Given the description of an element on the screen output the (x, y) to click on. 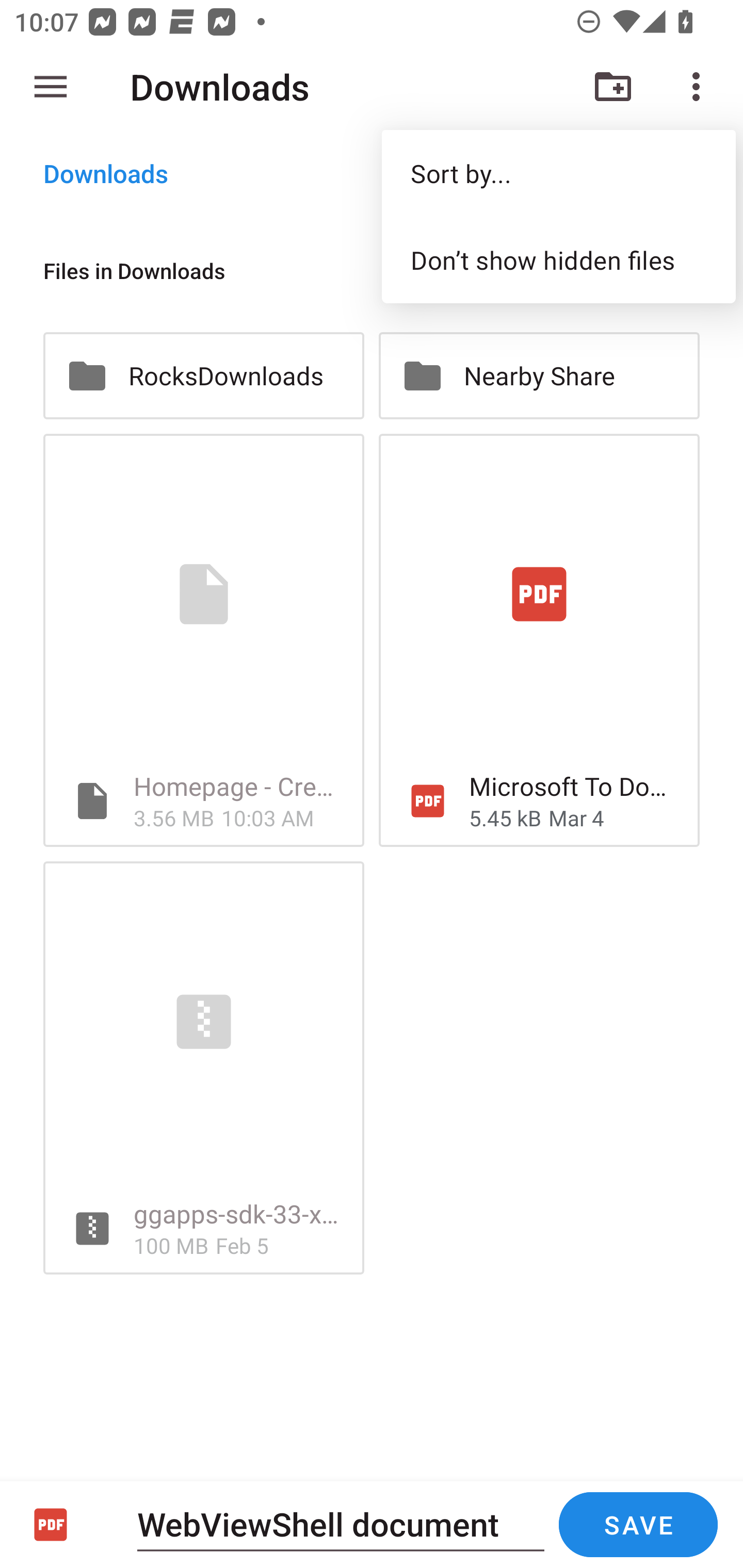
Sort by... (558, 173)
Don’t show hidden files (558, 259)
